Given the description of an element on the screen output the (x, y) to click on. 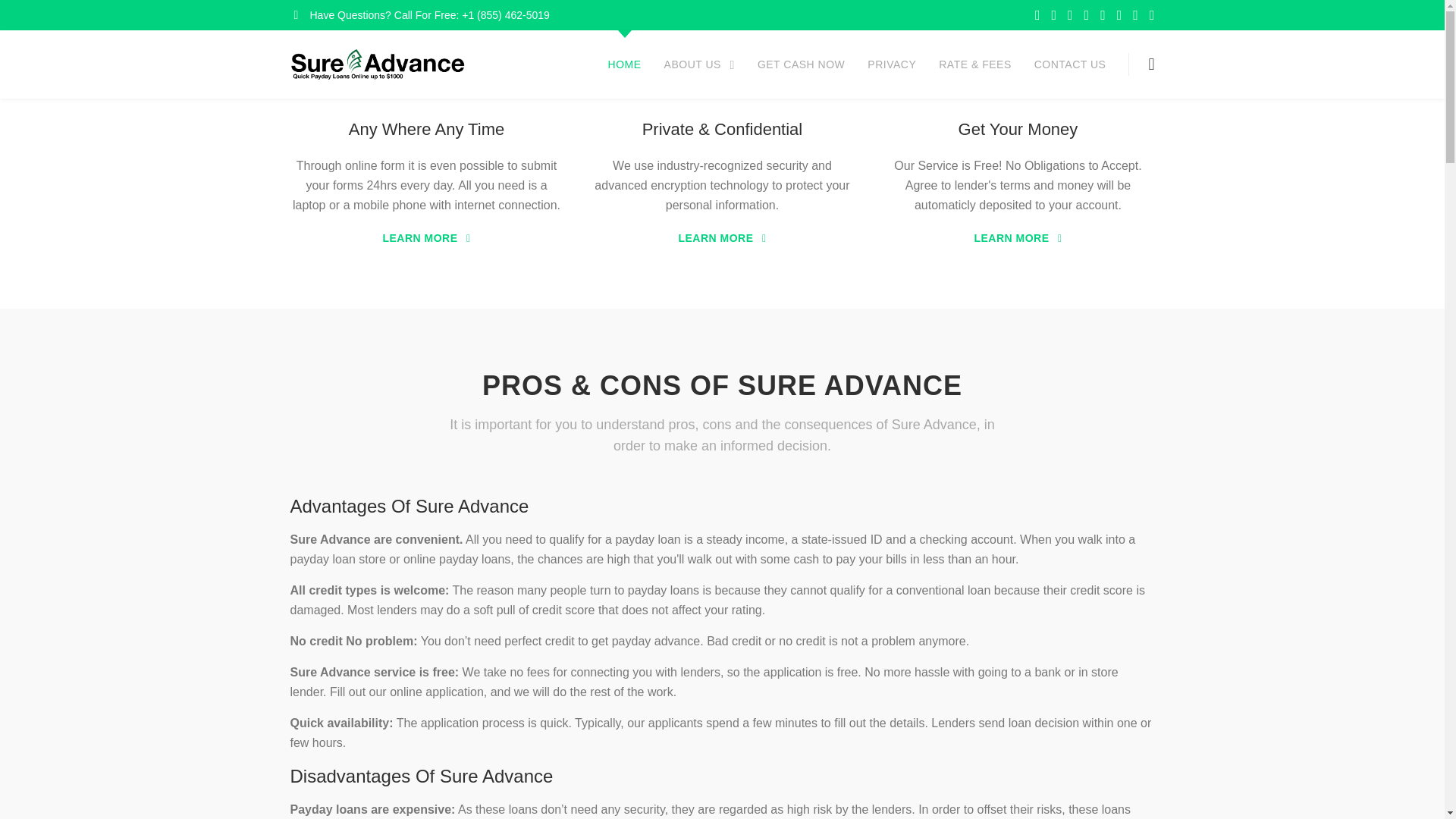
LEARN MORE (721, 237)
ABOUT US (699, 64)
LEARN MORE (425, 237)
PRIVACY (891, 64)
HOME (625, 64)
LEARN MORE (1017, 237)
GET CASH NOW (800, 64)
CONTACT US (1069, 64)
